Given the description of an element on the screen output the (x, y) to click on. 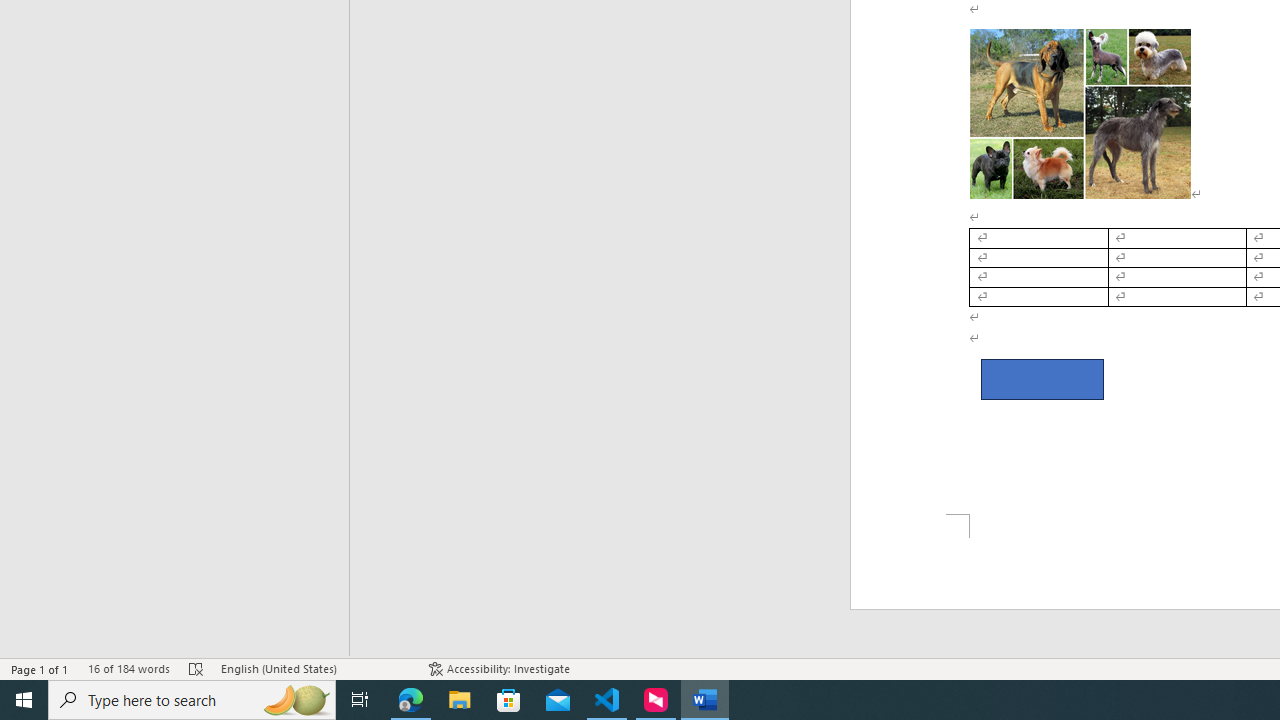
Morphological variation in six dogs (1080, 113)
Rectangle 2 (1041, 379)
Page Number Page 1 of 1 (39, 668)
